Given the description of an element on the screen output the (x, y) to click on. 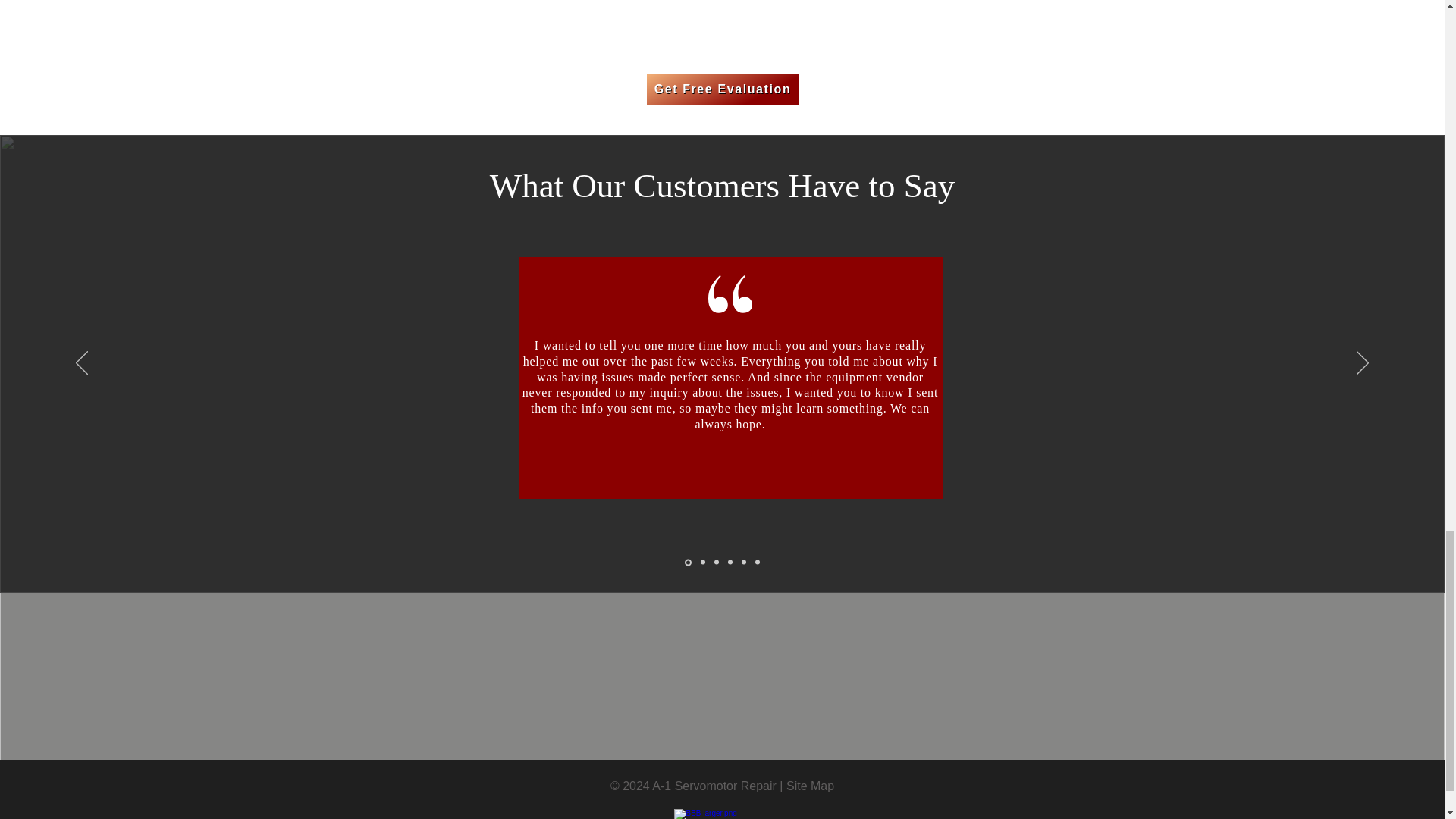
Get Free Evaluation (721, 89)
Site Map (810, 785)
